Given the description of an element on the screen output the (x, y) to click on. 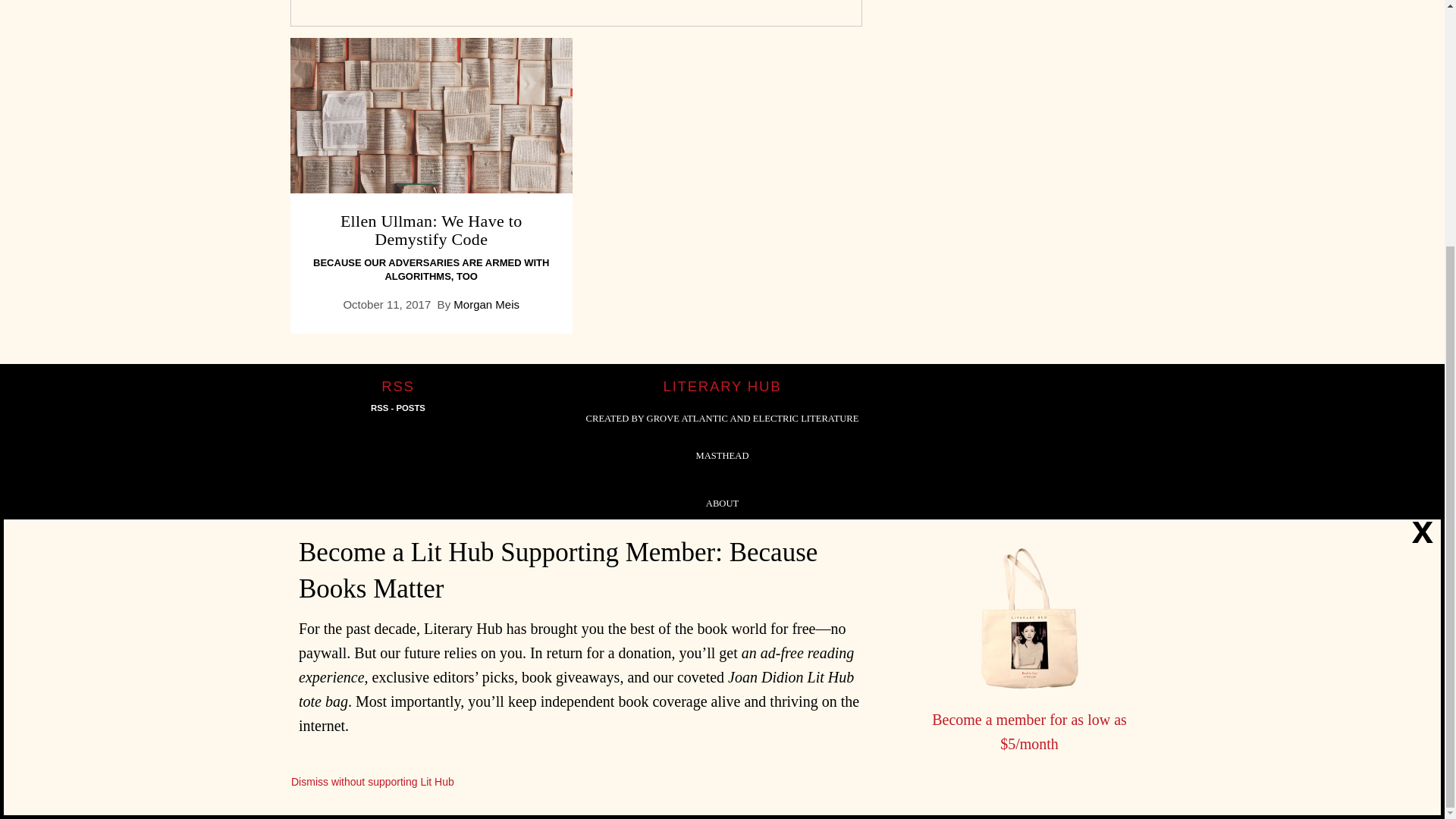
Ellen Ullman: We Have to Demystify Code (430, 115)
Subscribe to posts (398, 407)
Ellen Ullman: We Have to Demystify Code (431, 229)
